Given the description of an element on the screen output the (x, y) to click on. 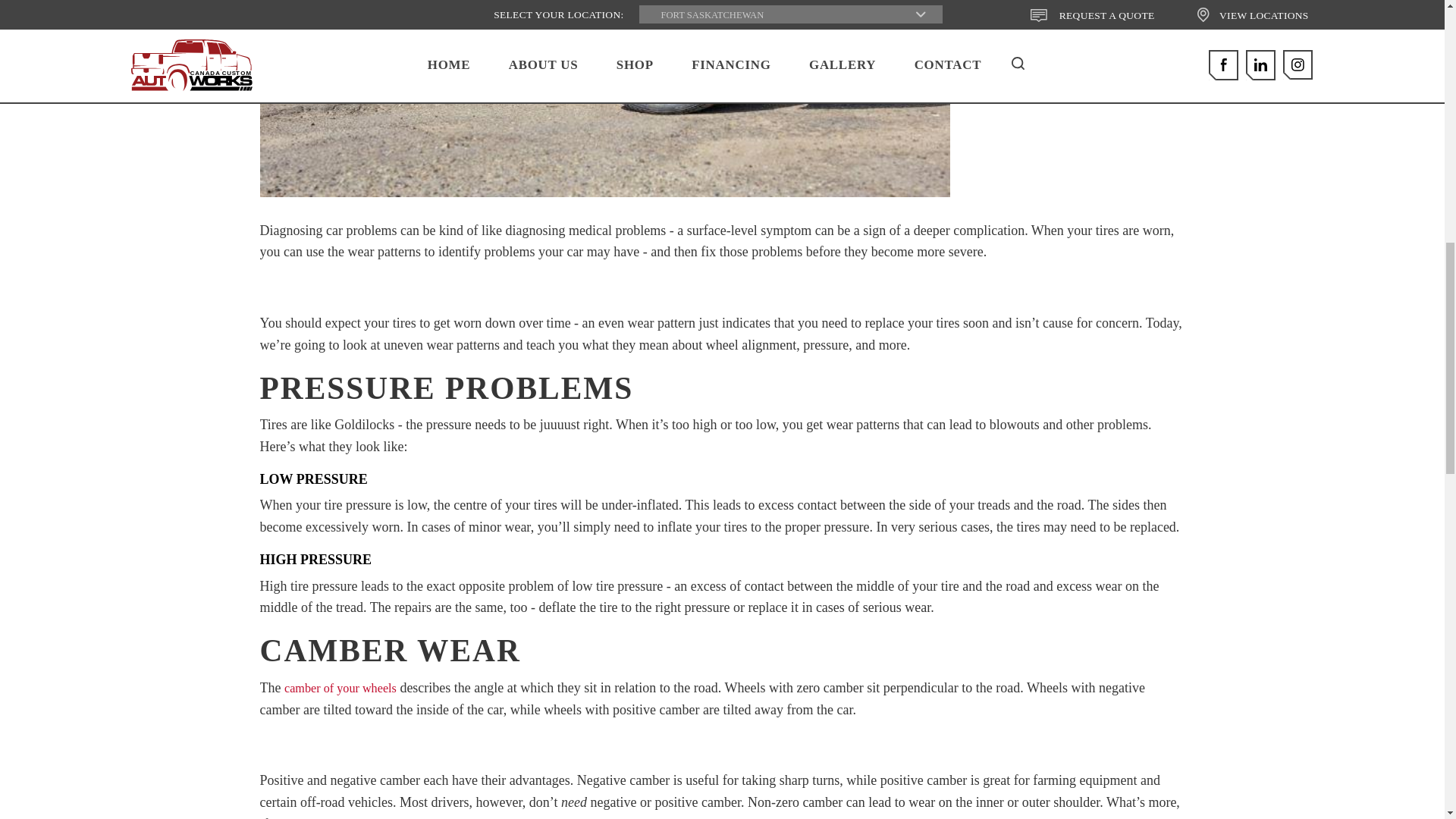
camber of your wheels (339, 688)
